Given the description of an element on the screen output the (x, y) to click on. 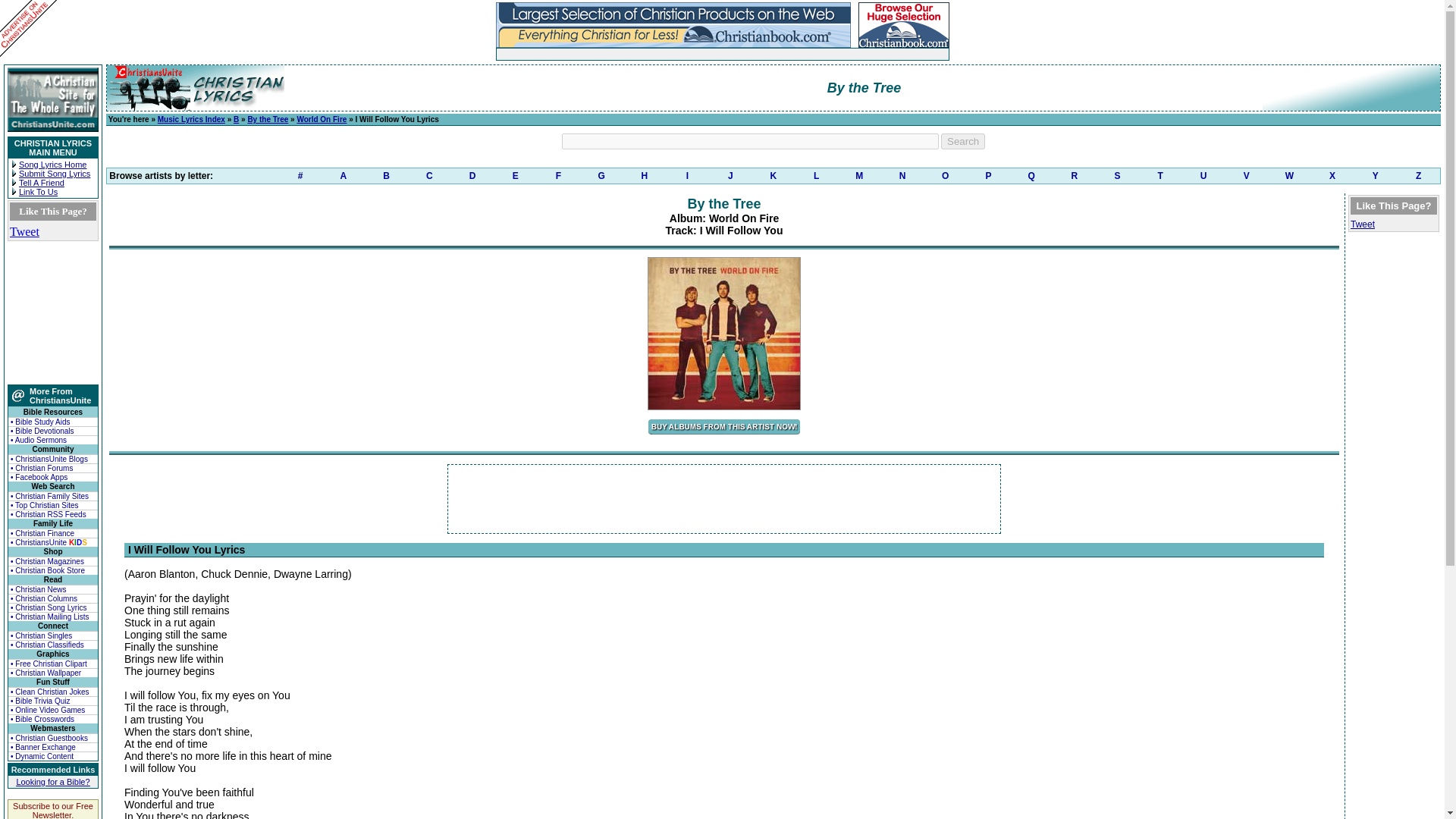
Search (962, 141)
Link To Us (38, 191)
Advertisement (673, 53)
Music Lyrics Index (191, 119)
Tell A Friend (41, 182)
World On Fire (321, 119)
Submit Song Lyrics (54, 173)
By the Tree (267, 119)
Advertisement (724, 499)
Looking for a Bible? (52, 781)
Song Lyrics Home (51, 163)
